Given the description of an element on the screen output the (x, y) to click on. 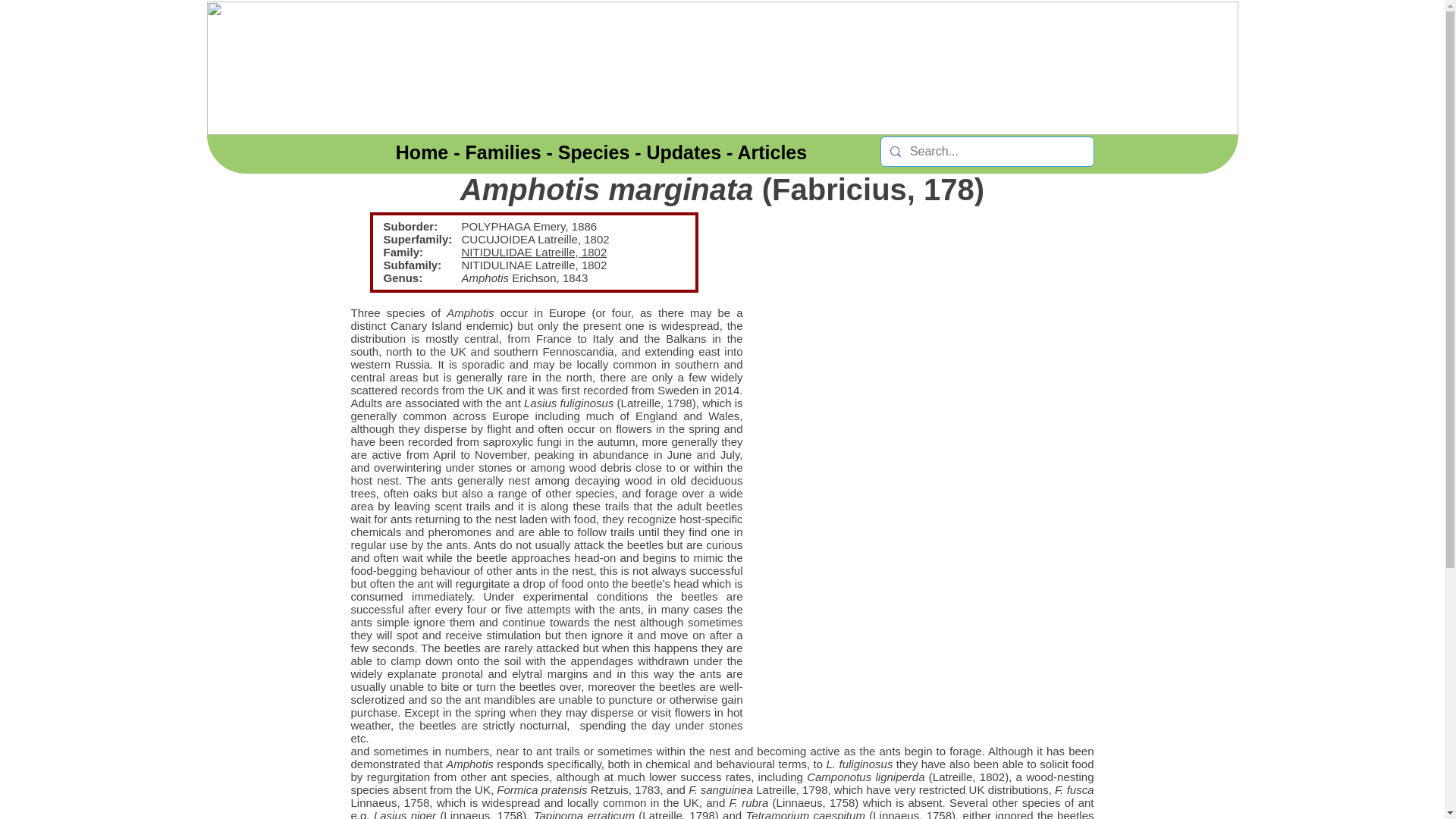
Updates (684, 151)
Home (422, 151)
Articles (771, 151)
Families (503, 151)
NITIDULIDAE Latreille, 1802 (534, 251)
Species (593, 151)
